Given the description of an element on the screen output the (x, y) to click on. 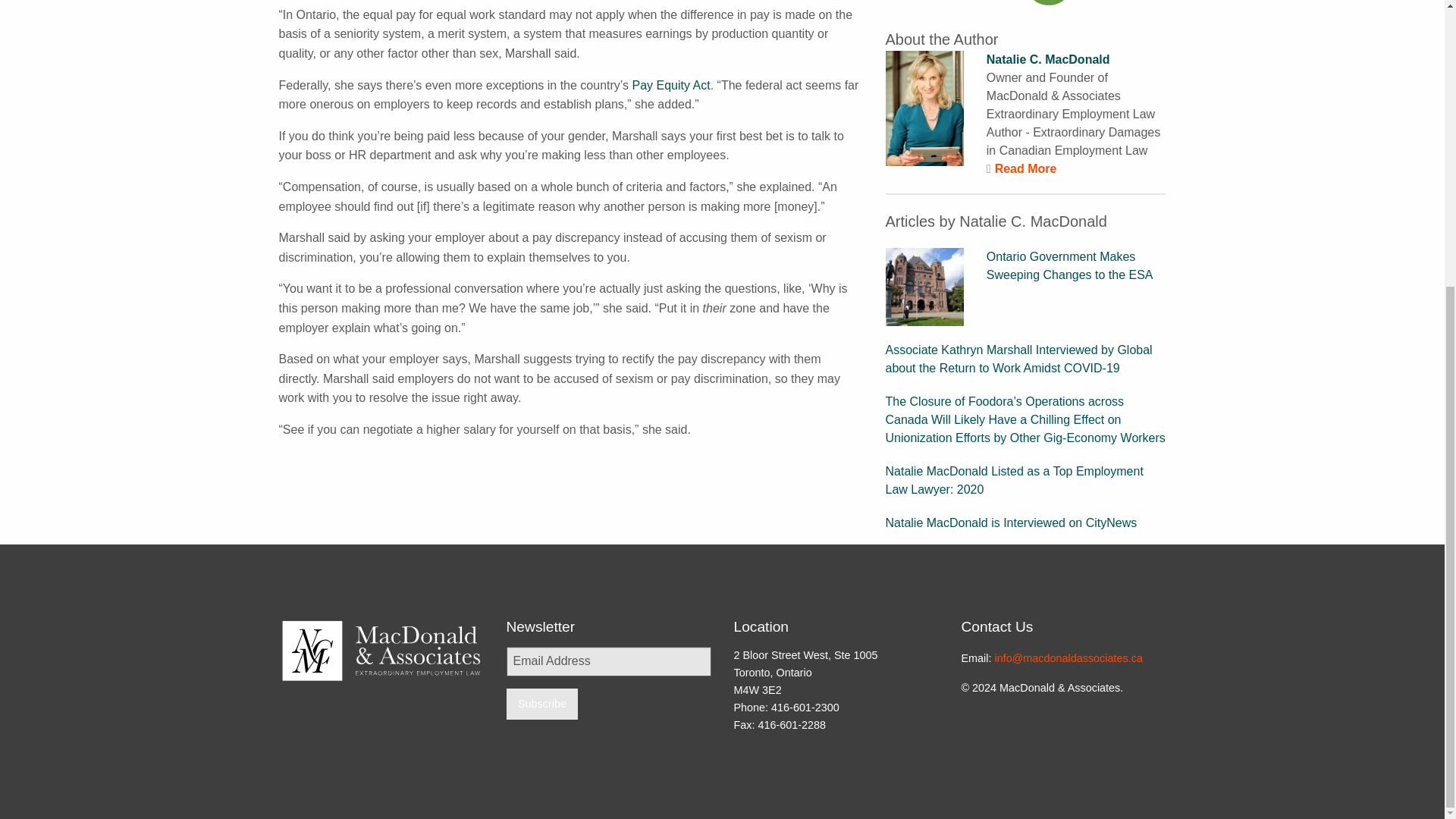
Email (1049, 2)
Subscribe (542, 703)
